Given the description of an element on the screen output the (x, y) to click on. 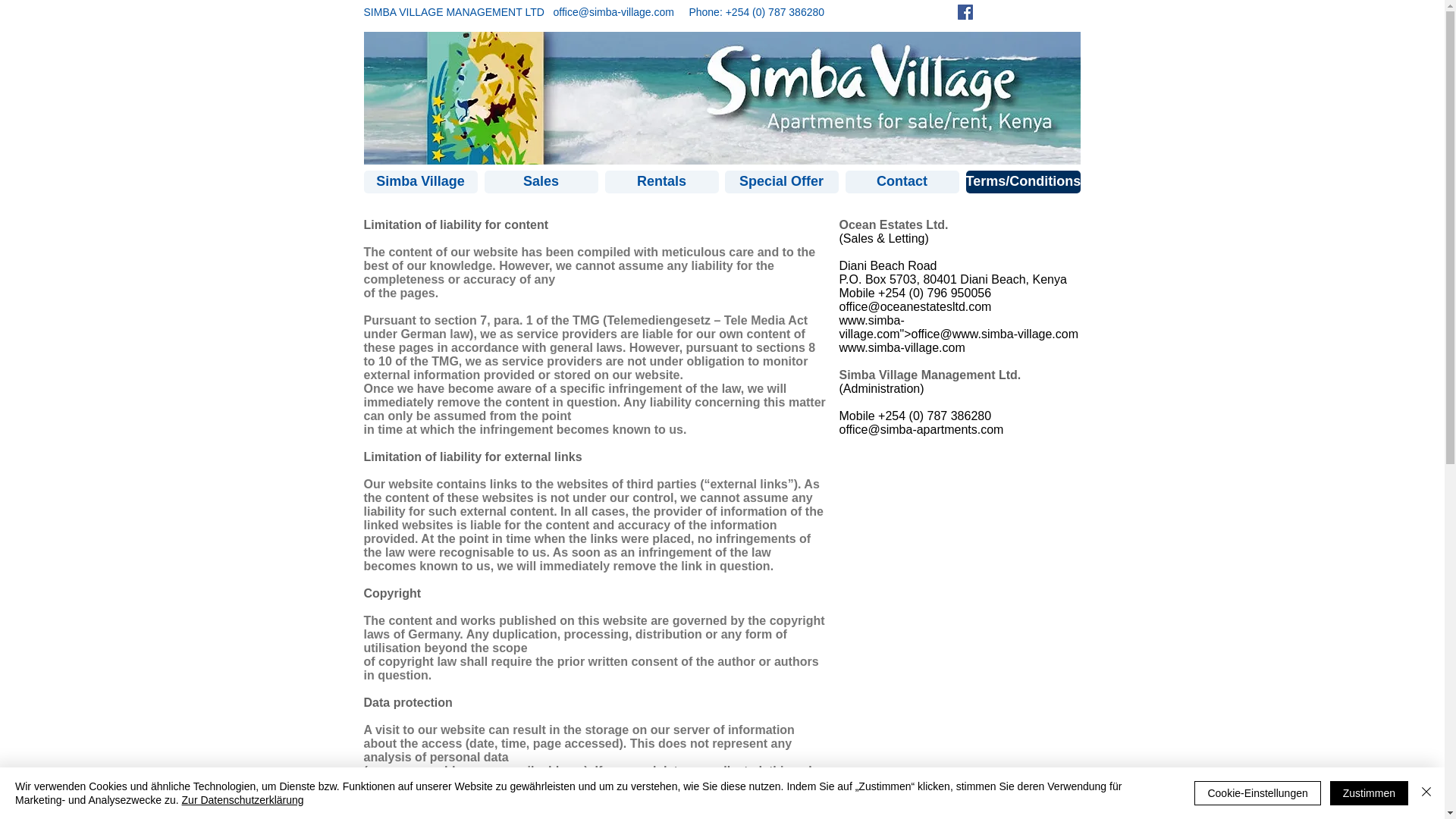
www.simba-village.com (1015, 333)
Cookie-Einstellungen (1256, 793)
Rentals (662, 181)
Special Offer (781, 181)
Zustimmen (1368, 793)
SIMBA VILLAGE MANAGEMENT LTD   (458, 11)
Contact (901, 181)
www.simba-village.com (871, 326)
Simba Village (420, 181)
Sales (539, 181)
